Given the description of an element on the screen output the (x, y) to click on. 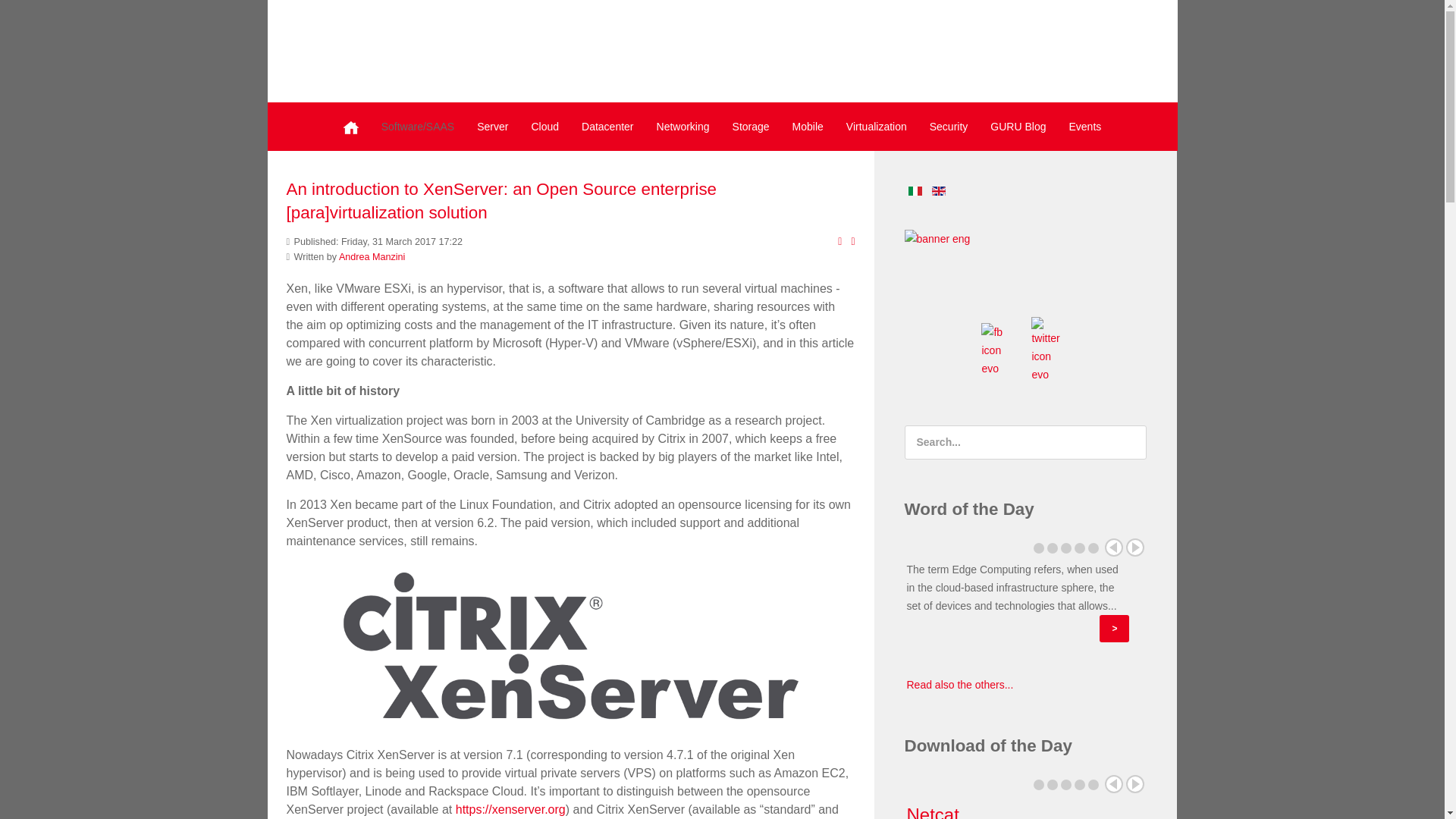
Netcat (933, 811)
5 (1093, 547)
1 (1038, 547)
4 (1079, 547)
View all articles from Andrea Manzini (372, 256)
Prev (1113, 547)
Virtualization (876, 126)
Andrea Manzini (372, 256)
Storage (750, 126)
Security (948, 126)
